Given the description of an element on the screen output the (x, y) to click on. 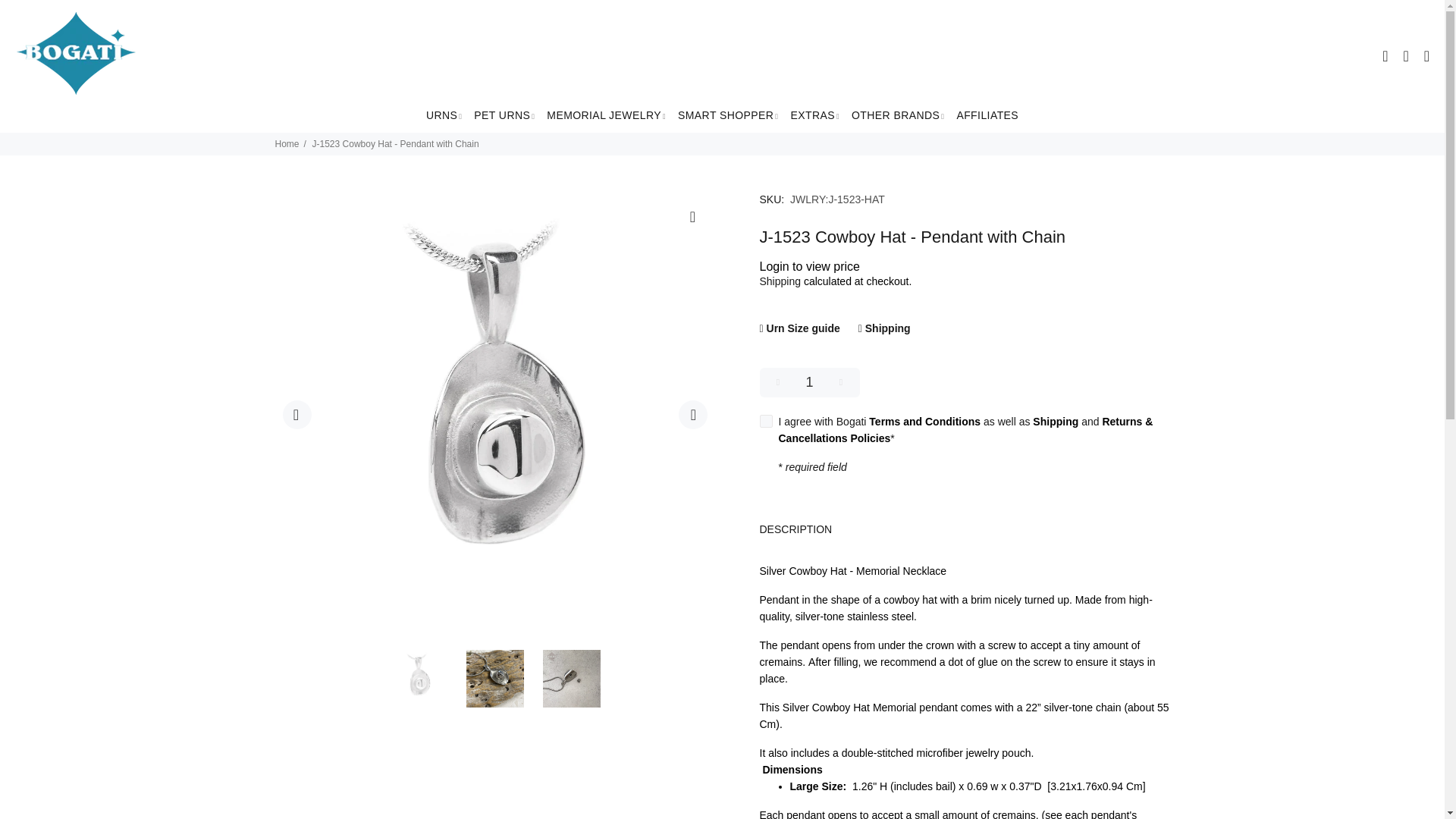
1 (810, 382)
